Given the description of an element on the screen output the (x, y) to click on. 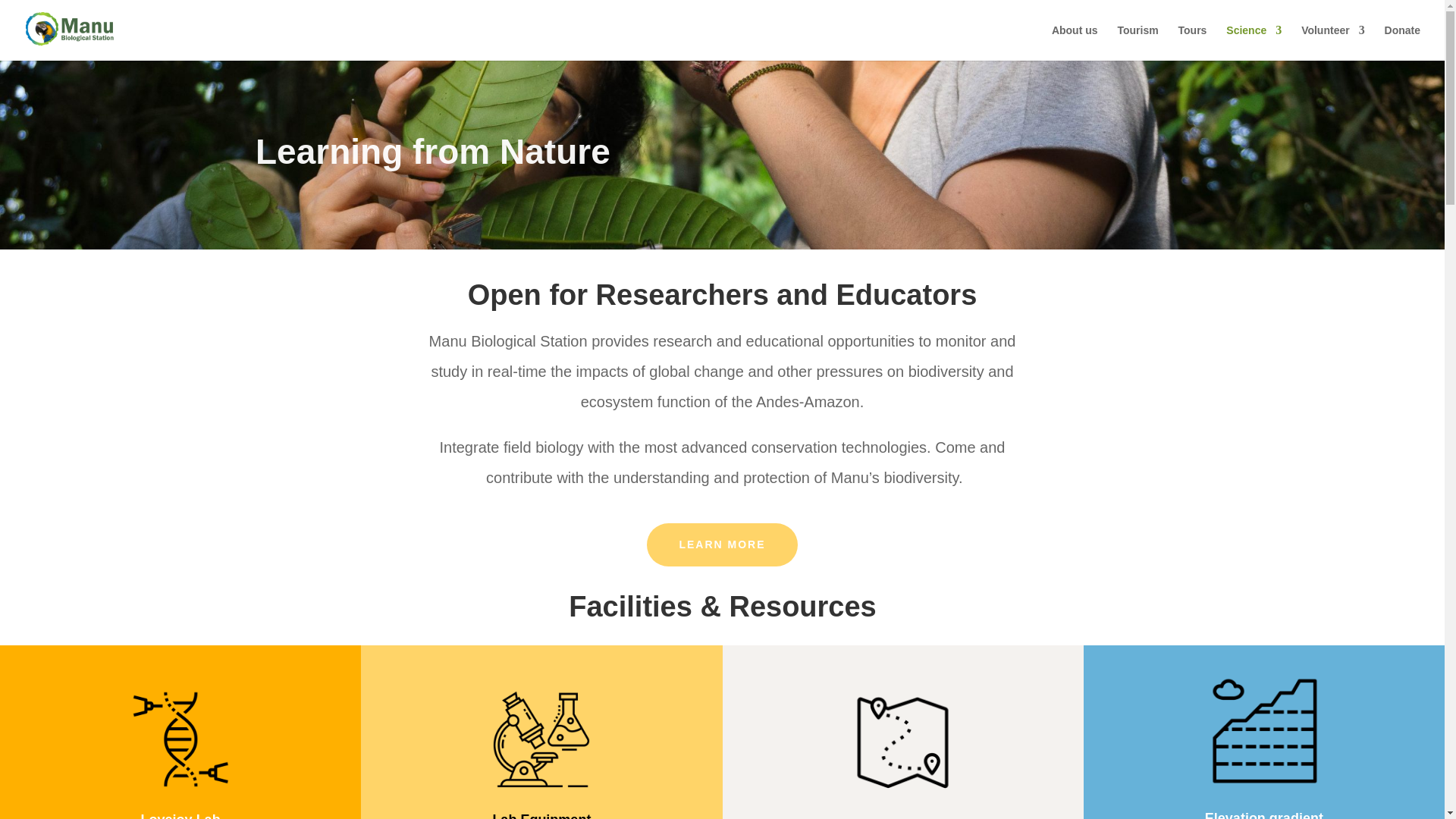
Donate (1402, 42)
Tourism (1136, 42)
Science (1253, 42)
Volunteer (1333, 42)
LEARN MORE (721, 545)
About us (1074, 42)
